Given the description of an element on the screen output the (x, y) to click on. 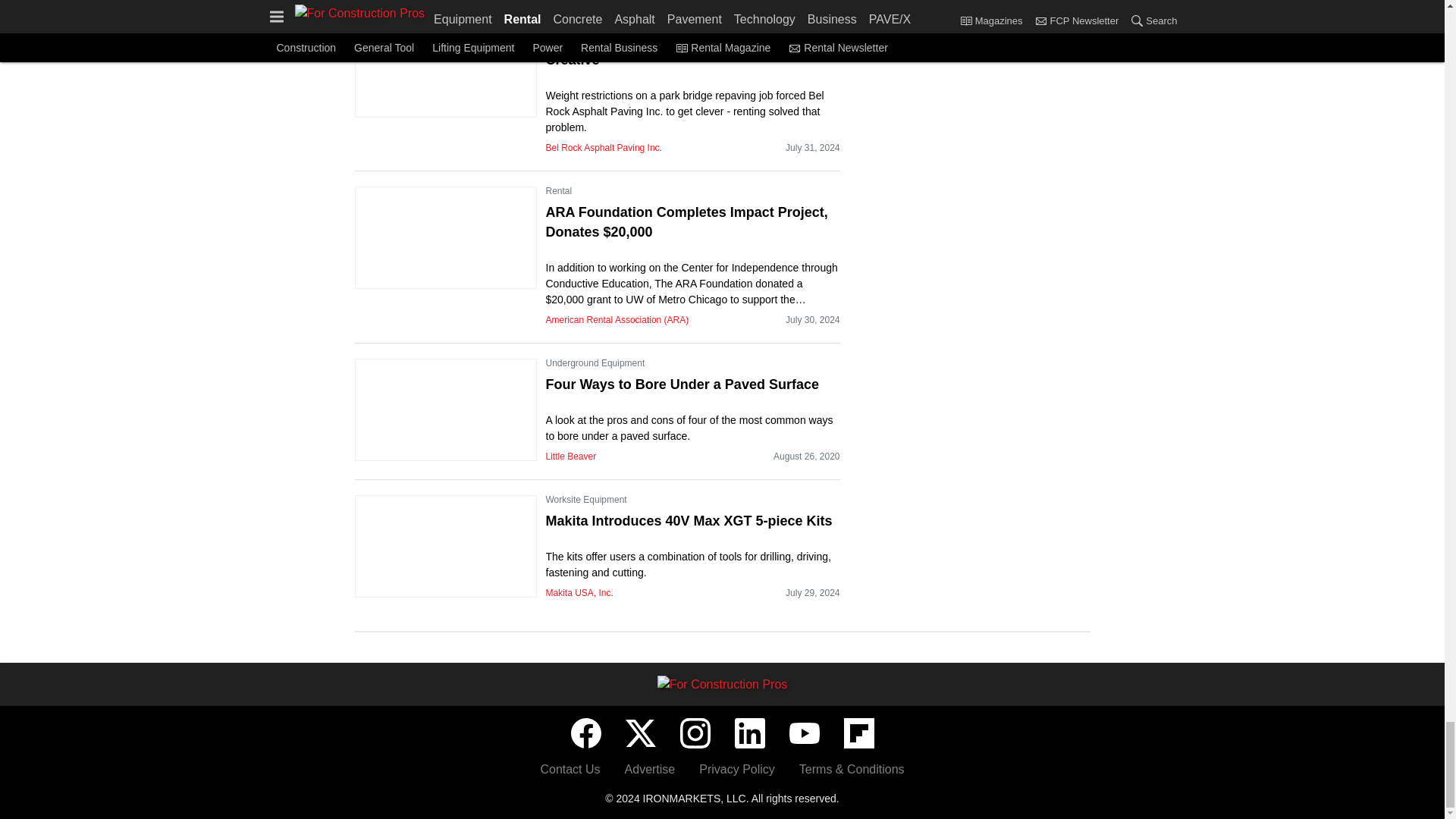
Twitter X icon (639, 733)
Facebook icon (584, 733)
Instagram icon (694, 733)
LinkedIn icon (748, 733)
YouTube icon (803, 733)
Flipboard icon (858, 733)
